Given the description of an element on the screen output the (x, y) to click on. 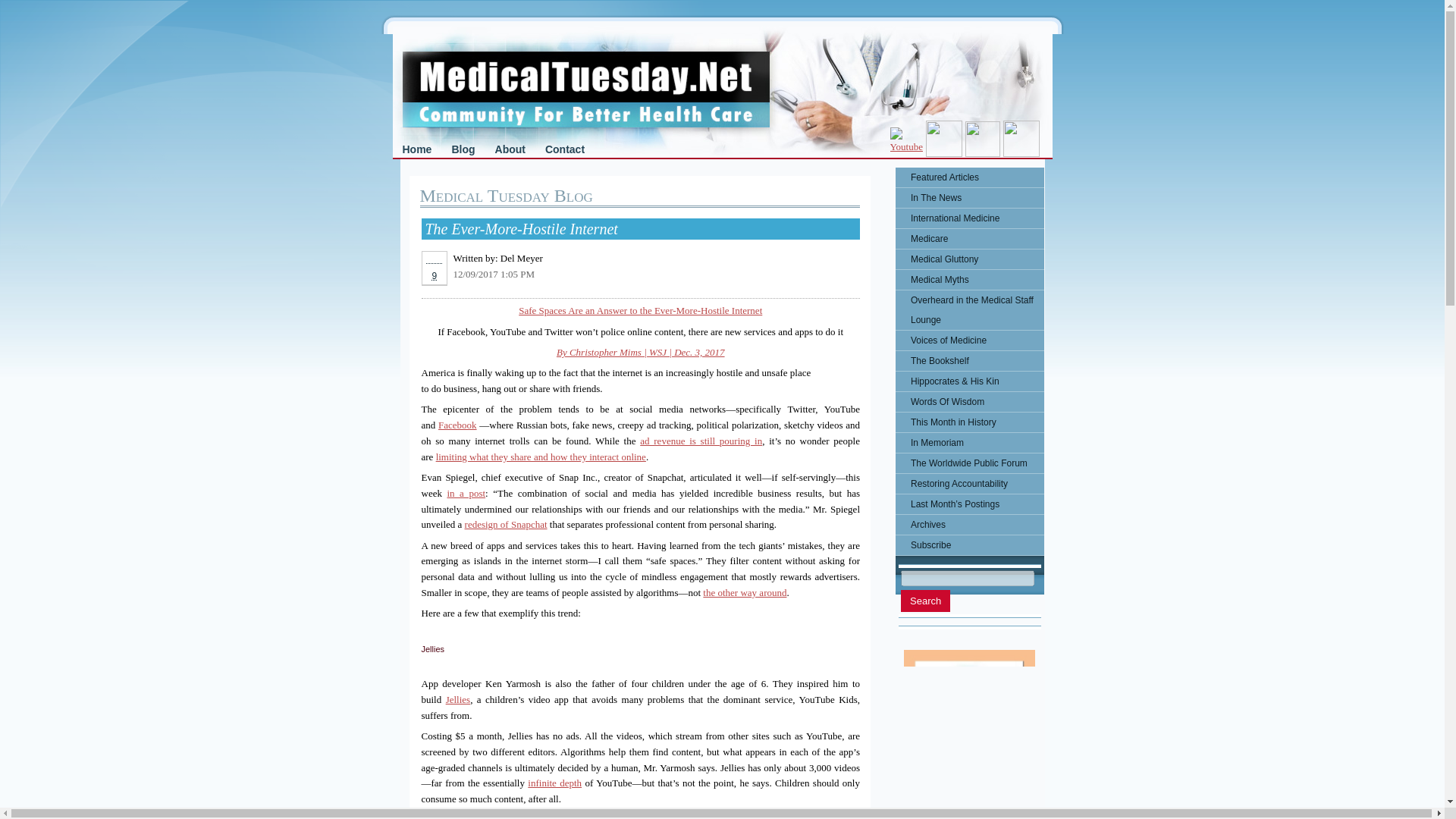
came to light (772, 816)
Home (417, 148)
About (509, 148)
the other way around (744, 592)
redesign of Snapchat (505, 523)
in a post (465, 492)
Blog (462, 148)
Facebook (457, 424)
ad revenue is still pouring in (700, 440)
Search (925, 600)
